Given the description of an element on the screen output the (x, y) to click on. 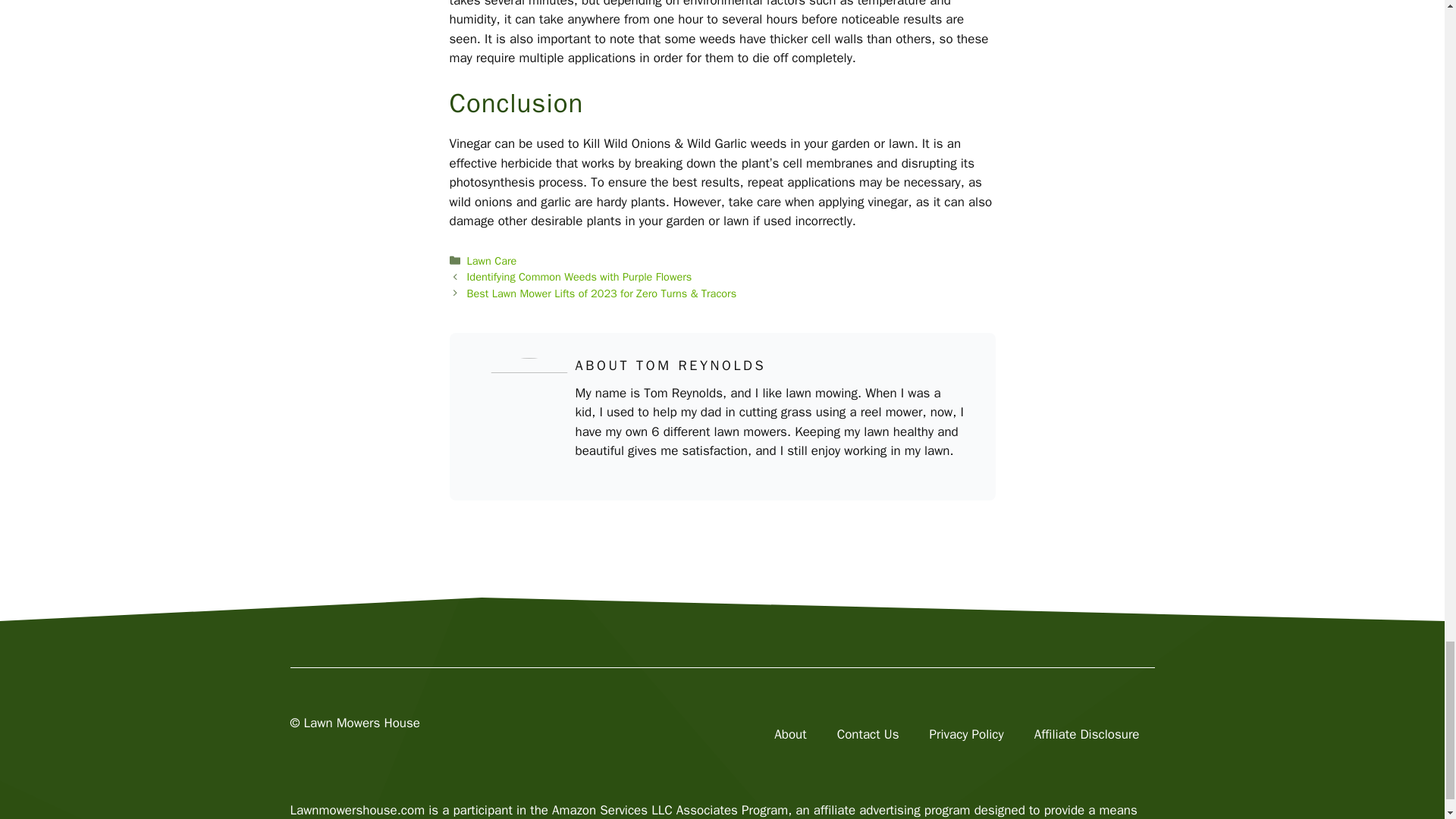
About (789, 734)
Privacy Policy (966, 734)
Lawn Care (491, 260)
Contact Us (868, 734)
Identifying Common Weeds with Purple Flowers (580, 276)
Affiliate Disclosure (1086, 734)
